Given the description of an element on the screen output the (x, y) to click on. 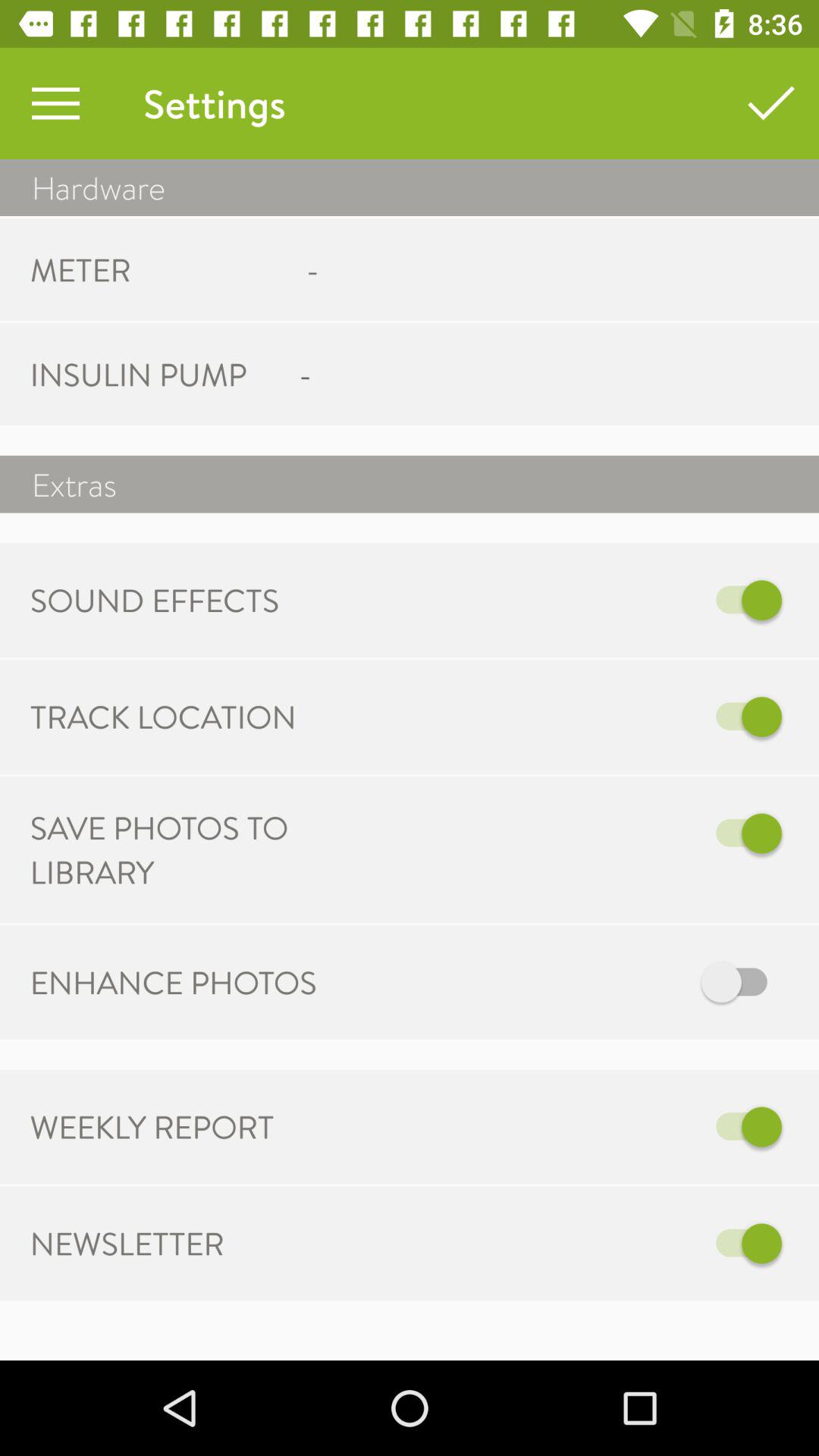
switch track location (566, 716)
